Given the description of an element on the screen output the (x, y) to click on. 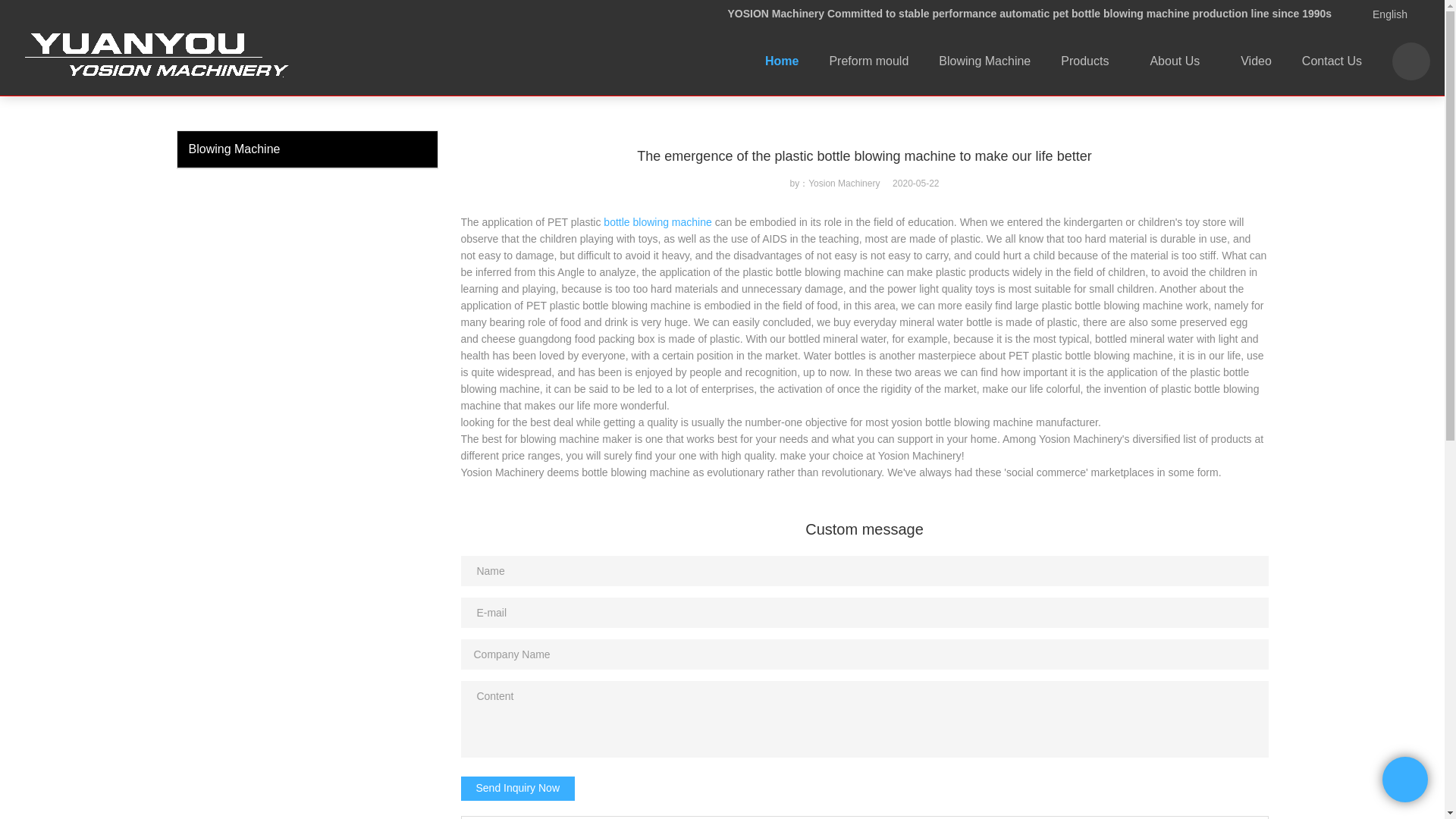
Video (1256, 61)
Home (781, 61)
Send Inquiry Now (518, 788)
Blowing Machine (984, 61)
Contact Us (1332, 61)
Products (1089, 61)
bottle blowing machine (657, 222)
About Us (1179, 61)
Yosion Machinery (211, 13)
Preform mould (868, 61)
